Given the description of an element on the screen output the (x, y) to click on. 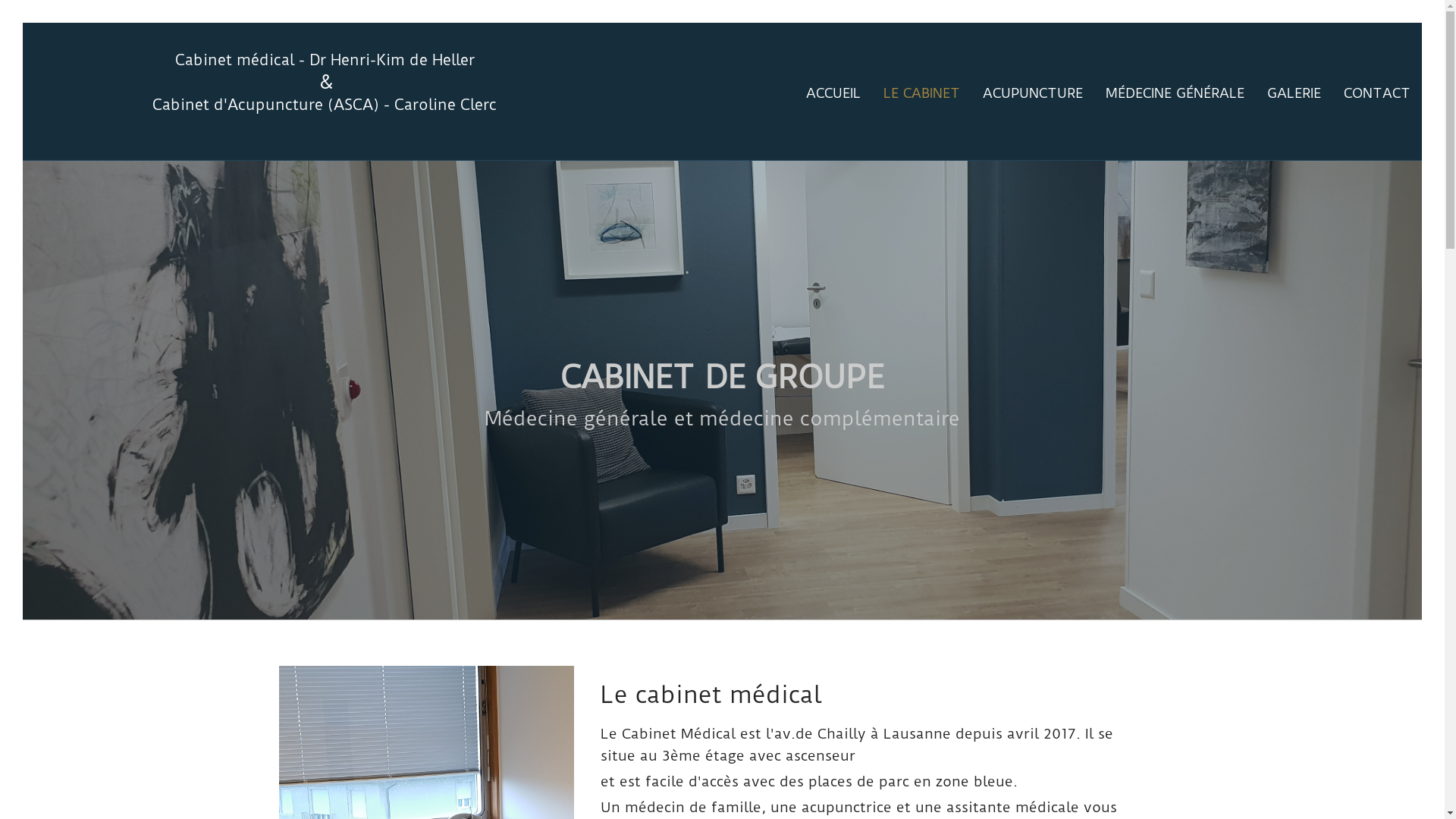
CONTACT Element type: text (1376, 93)
ACUPUNCTURE Element type: text (1032, 93)
GALERIE Element type: text (1294, 93)
LE CABINET Element type: text (921, 93)
ACCUEIL Element type: text (833, 93)
